Given the description of an element on the screen output the (x, y) to click on. 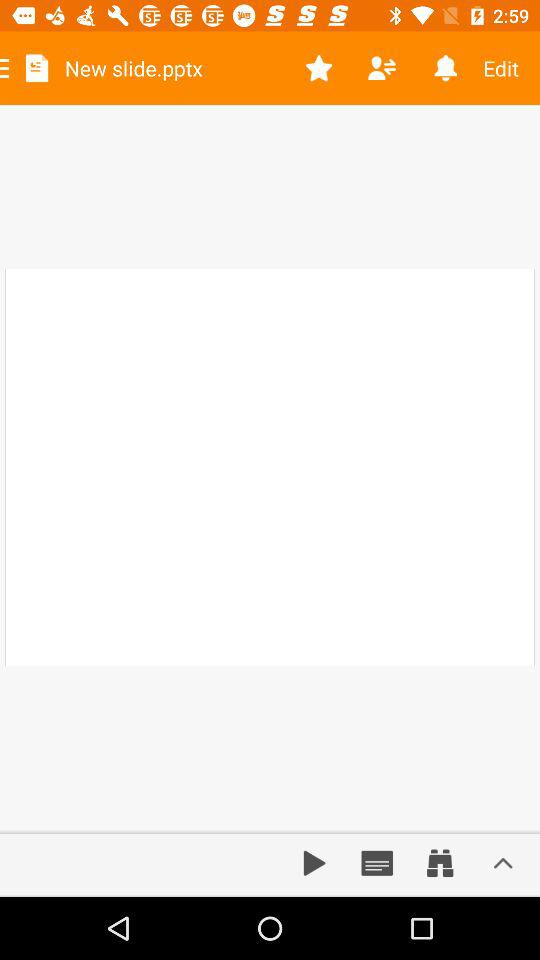
more options (503, 863)
